Given the description of an element on the screen output the (x, y) to click on. 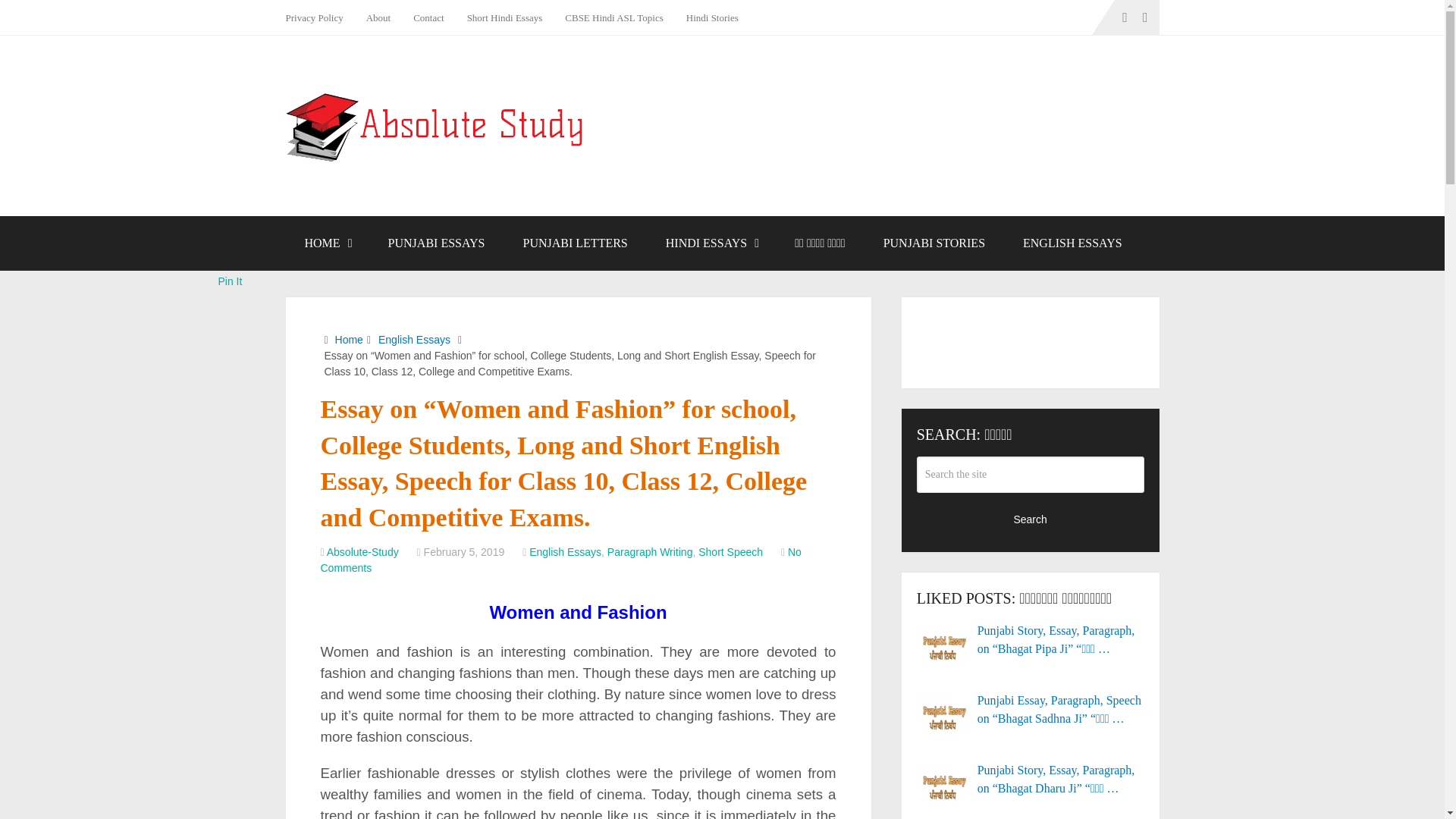
Paragraph Writing (650, 551)
Absolute-Study (362, 551)
CBSE Hindi ASL Topics (613, 17)
View all posts in Paragraph Writing (650, 551)
ENGLISH ESSAYS (1072, 243)
About (379, 17)
Short Hindi Essays (504, 17)
PUNJABI ESSAYS (436, 243)
No Comments (560, 560)
PUNJABI LETTERS (574, 243)
Tweet (232, 262)
View all posts in Short Speech (730, 551)
English Essays (565, 551)
Privacy Policy (319, 17)
Short Speech (730, 551)
